Given the description of an element on the screen output the (x, y) to click on. 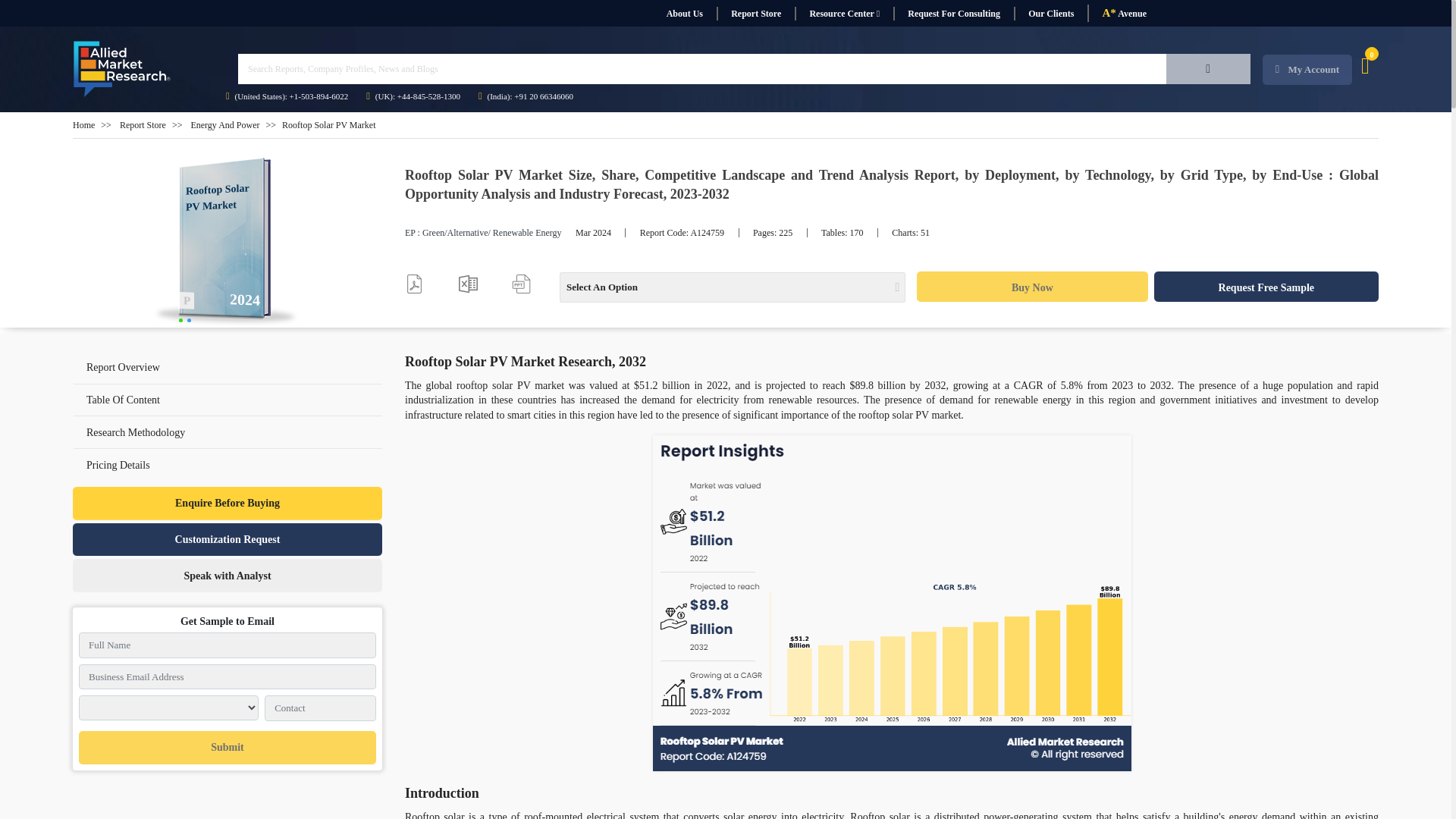
Buy Now (1032, 286)
Request For Consulting (953, 13)
About Us (684, 13)
Speak with Analyst (226, 575)
Customization Request (226, 539)
Allied Market Research (121, 68)
Home (83, 124)
Data Pack Excel (467, 283)
Rooftop Solar PV Market (227, 242)
Enquire Before Buying (226, 503)
